Given the description of an element on the screen output the (x, y) to click on. 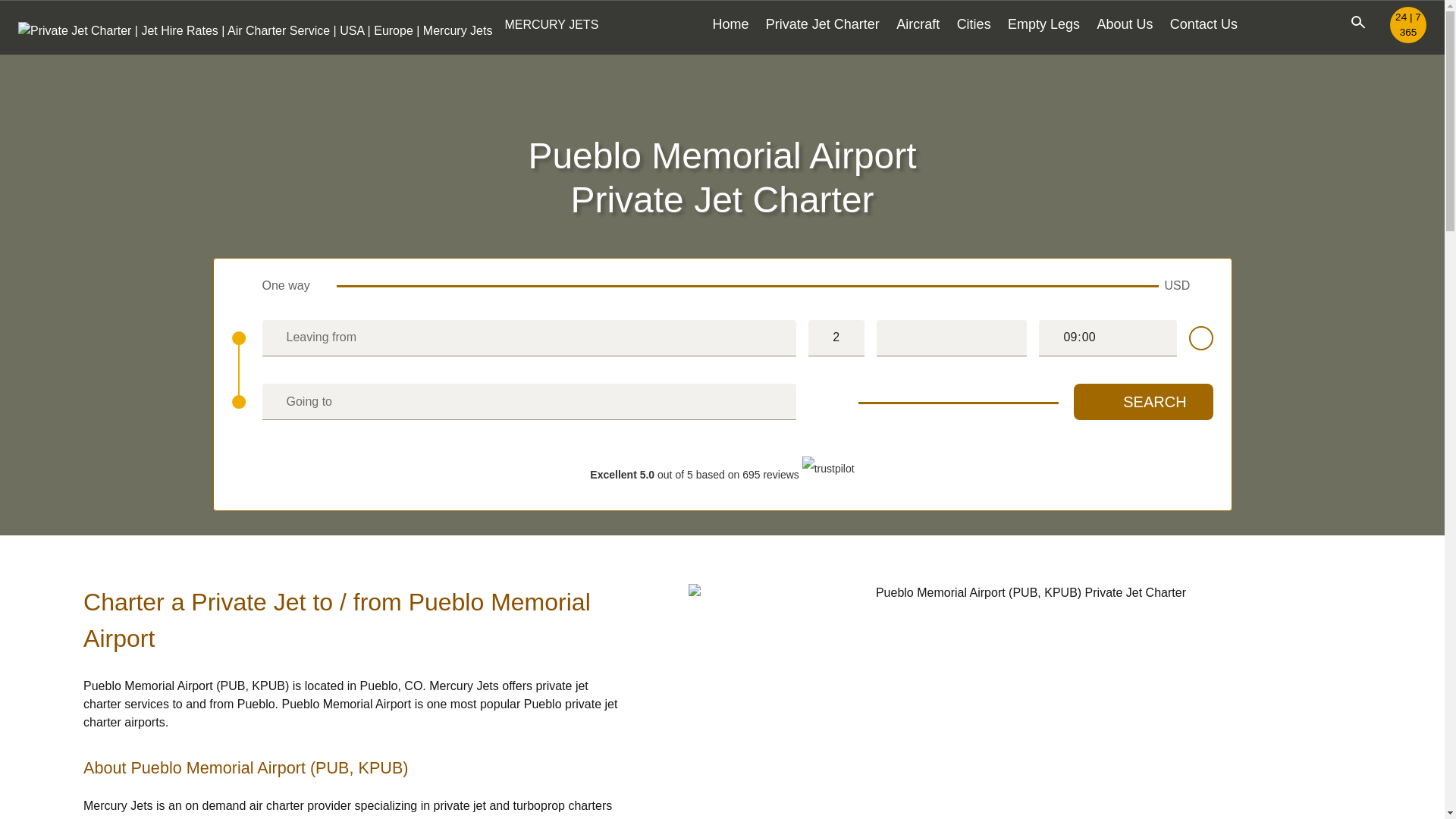
About Us (1124, 24)
MERCURY JETS (307, 24)
Contact Us (1203, 24)
09:00 (1107, 338)
Excellent 5.0 out of 5 based on 695 reviews (721, 474)
Home (729, 24)
Empty Legs (1043, 24)
Aircraft (917, 24)
Cities (973, 24)
Private Jet Charter (822, 24)
